Given the description of an element on the screen output the (x, y) to click on. 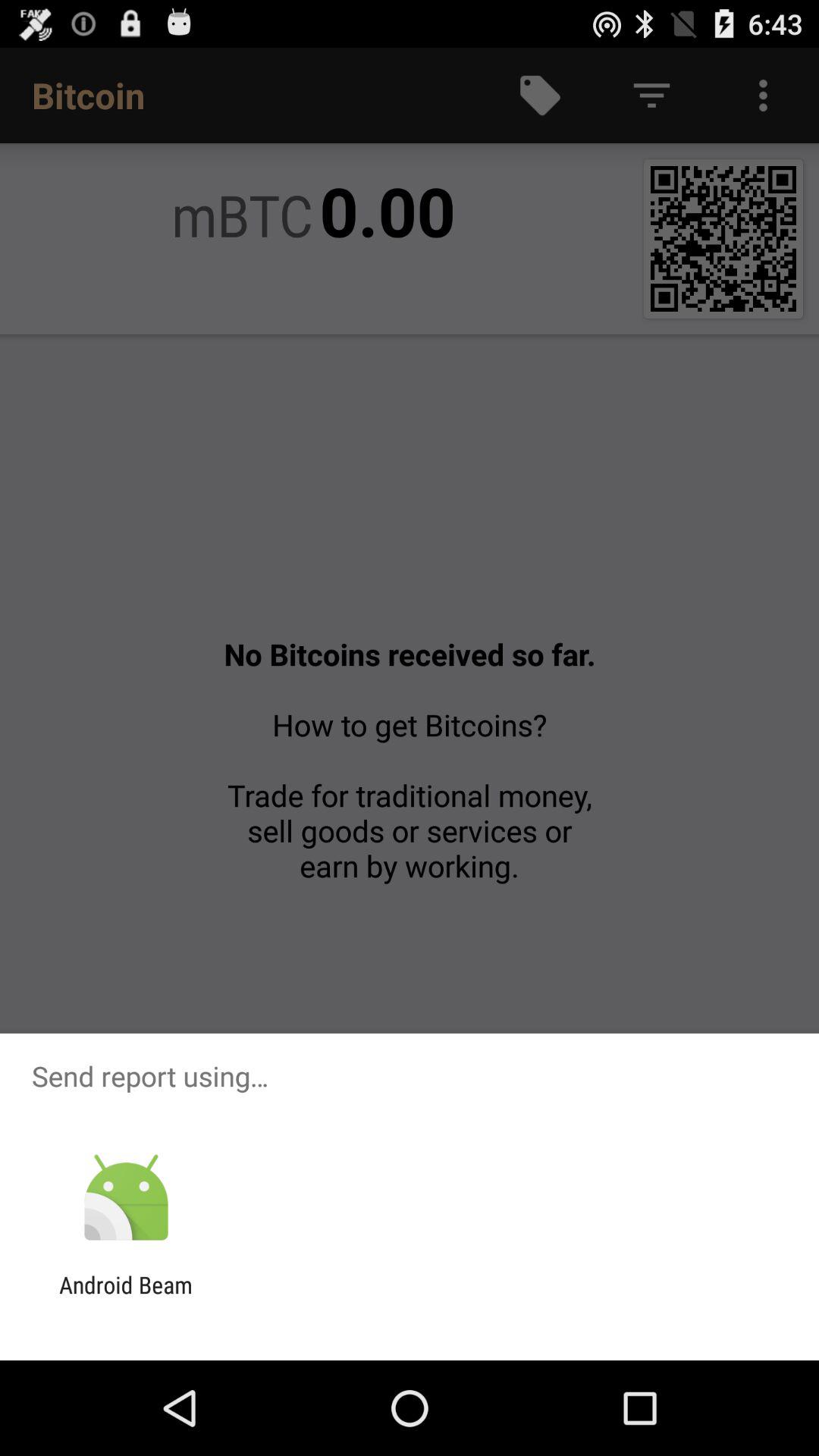
choose item above android beam app (126, 1198)
